Given the description of an element on the screen output the (x, y) to click on. 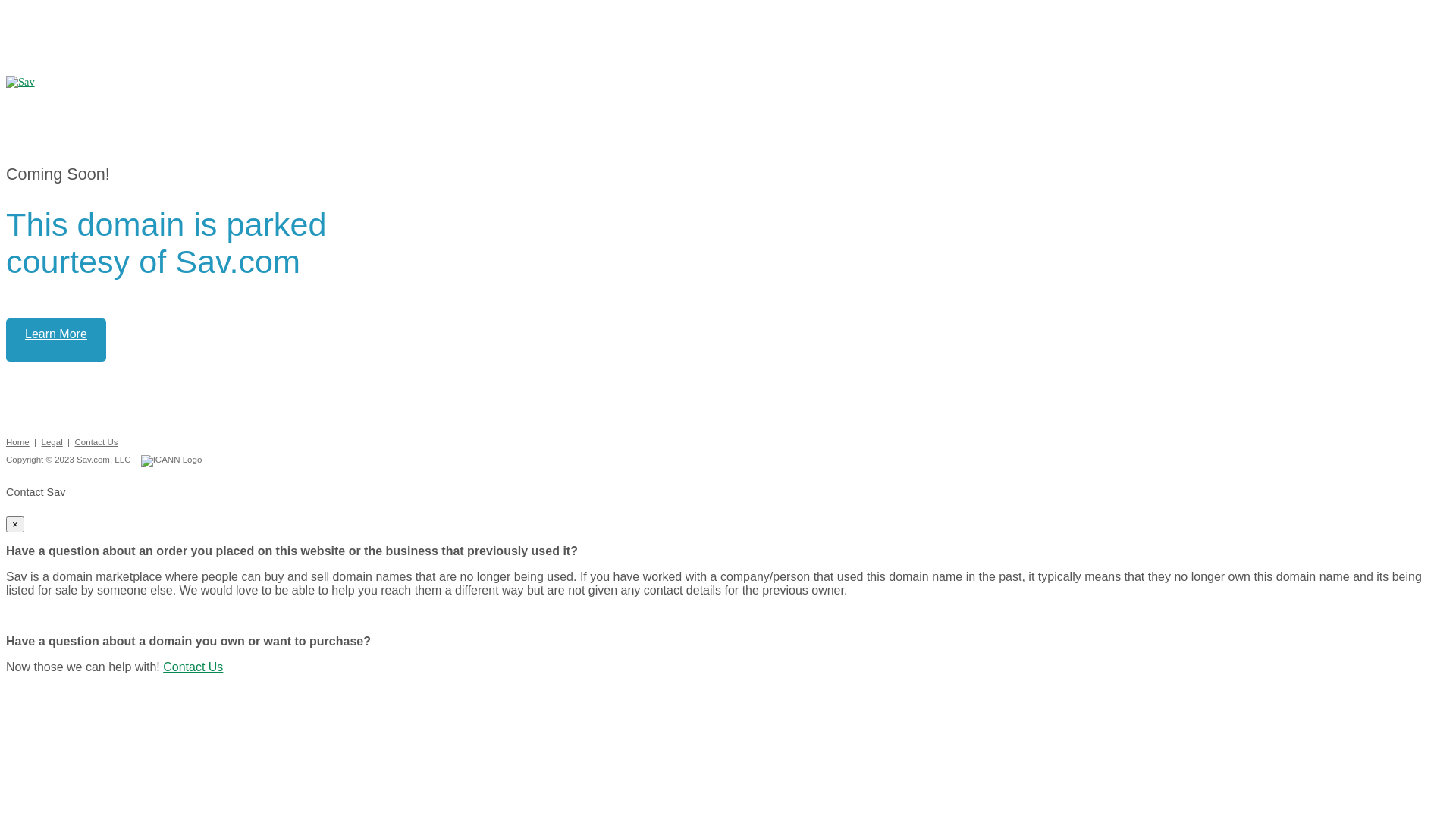
Learn More Element type: text (56, 339)
Contact Us Element type: text (95, 441)
Contact Us Element type: text (192, 666)
Home Element type: text (17, 441)
Legal Element type: text (51, 441)
